Given the description of an element on the screen output the (x, y) to click on. 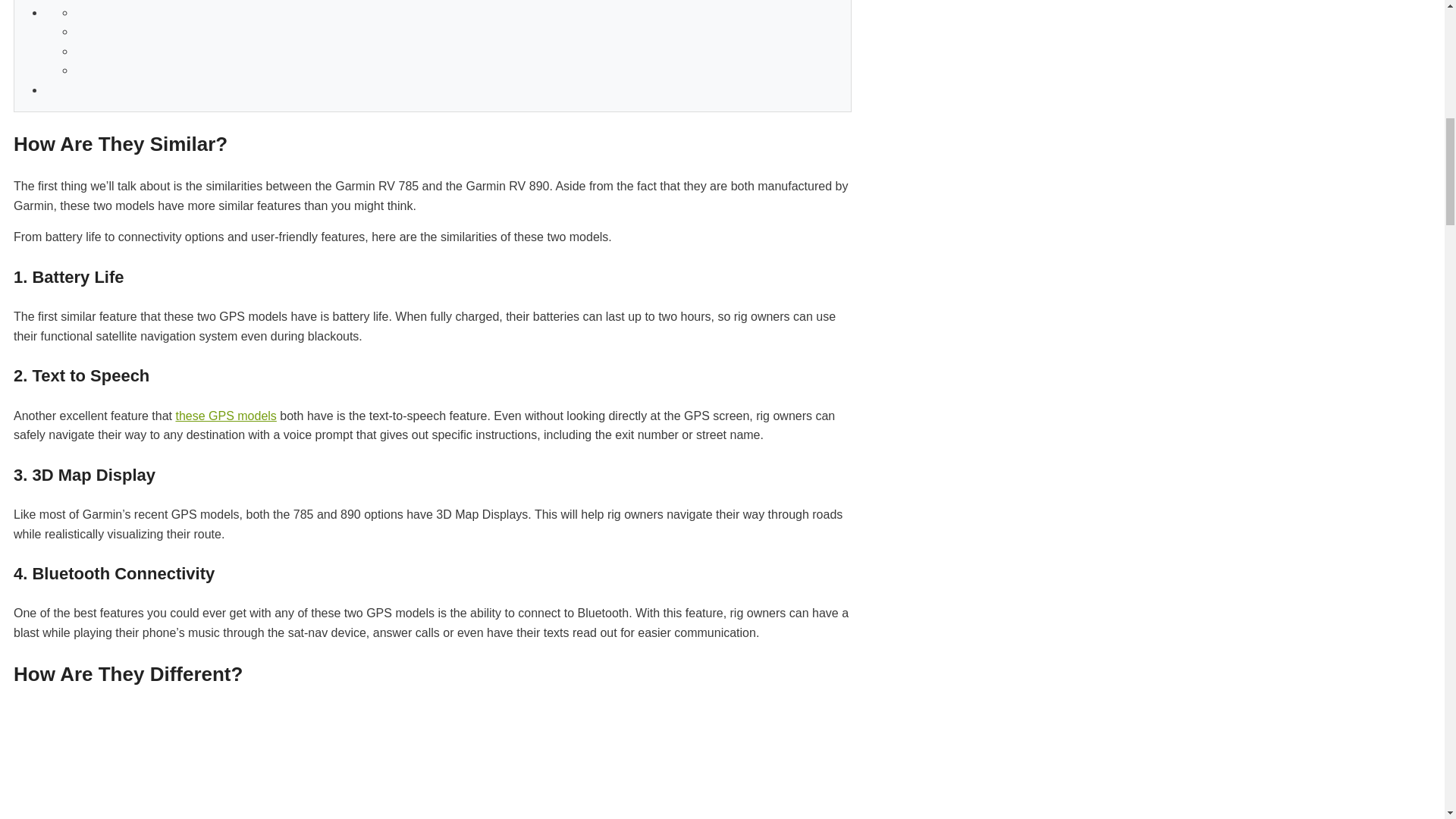
these GPS models (225, 415)
